Given the description of an element on the screen output the (x, y) to click on. 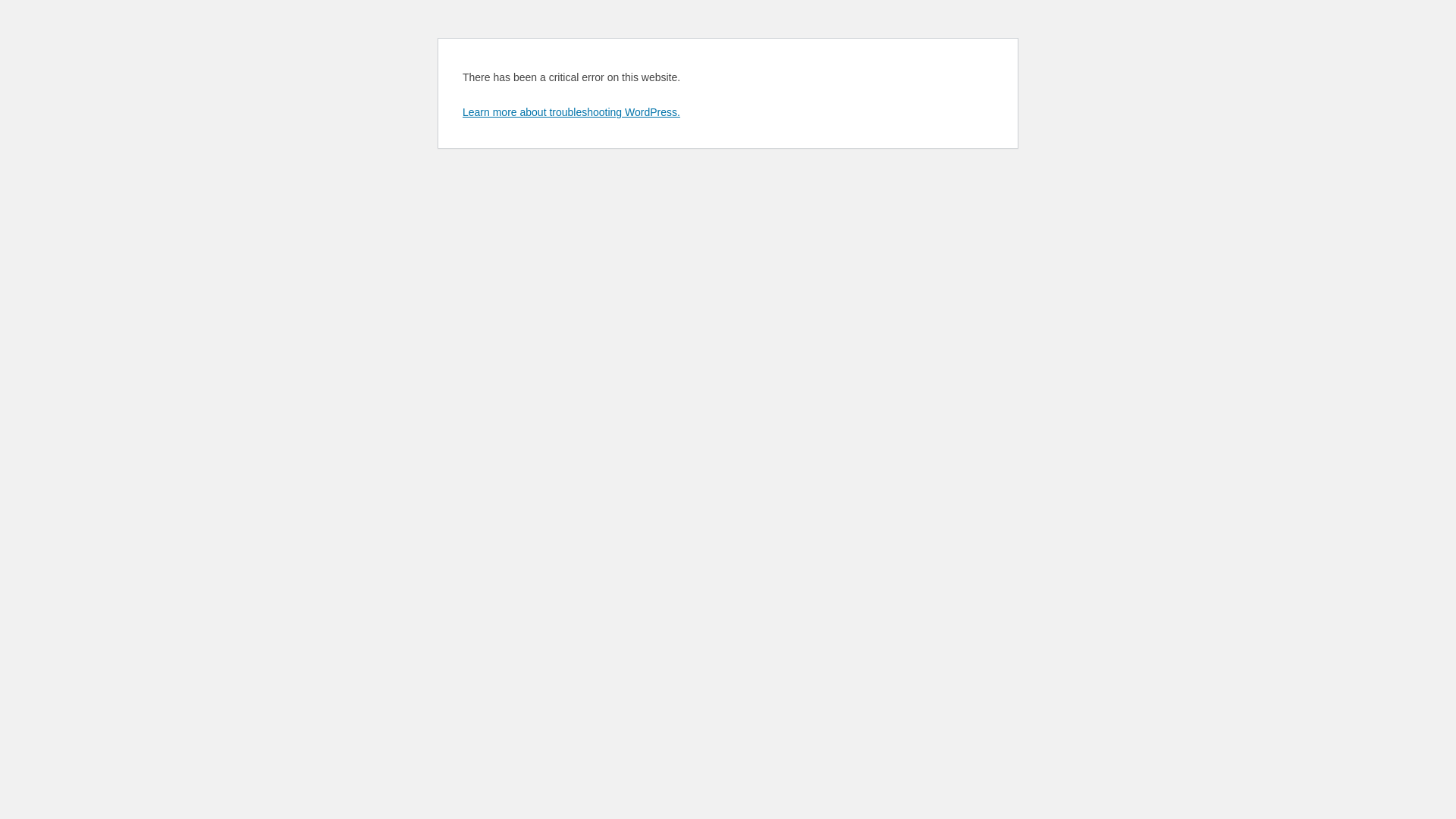
Learn more about troubleshooting WordPress. Element type: text (571, 112)
